Given the description of an element on the screen output the (x, y) to click on. 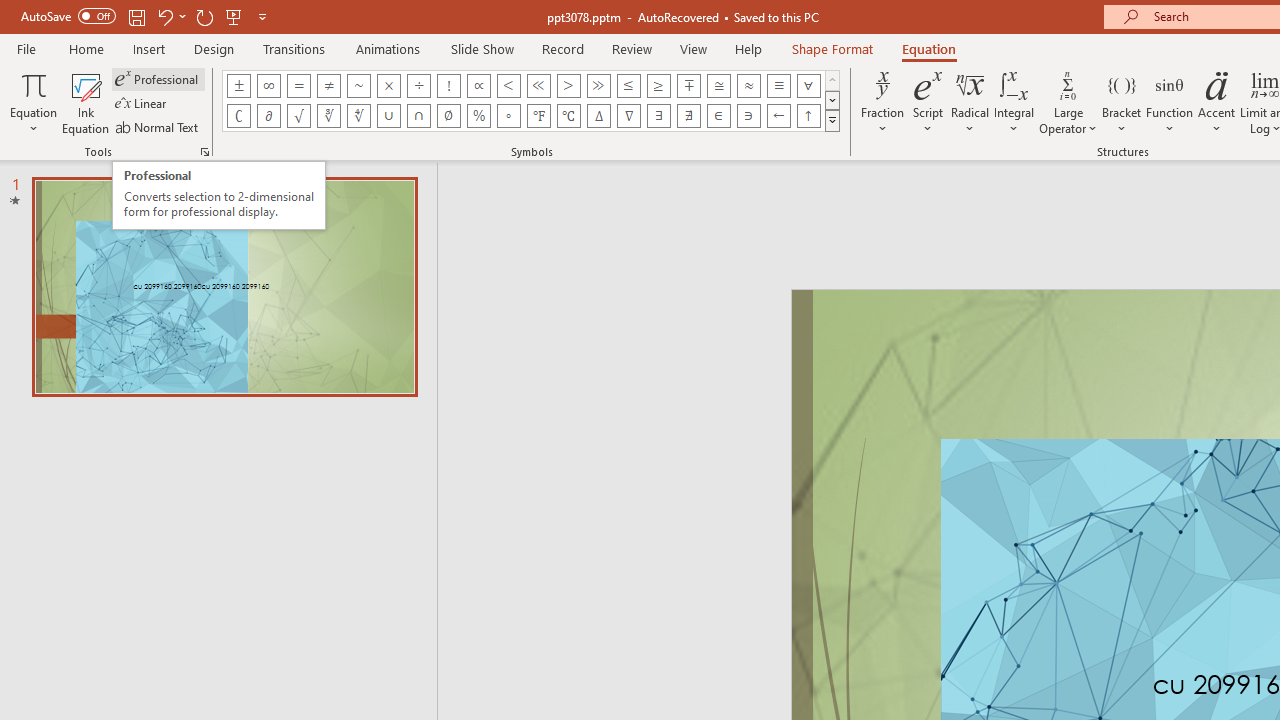
Accent (1216, 102)
Equation Symbol Minus Plus (689, 85)
Equation Options... (204, 151)
Equation Symbol Factorial (448, 85)
Equation Symbol Increment (598, 115)
Equation Symbol Nabla (628, 115)
Equation Symbol Degrees (508, 115)
Equation Symbol Not Equal To (328, 85)
Equation Symbol Degrees Celsius (568, 115)
Equation Symbol Less Than or Equal To (628, 85)
Equation Symbol Degrees Fahrenheit (538, 115)
